Given the description of an element on the screen output the (x, y) to click on. 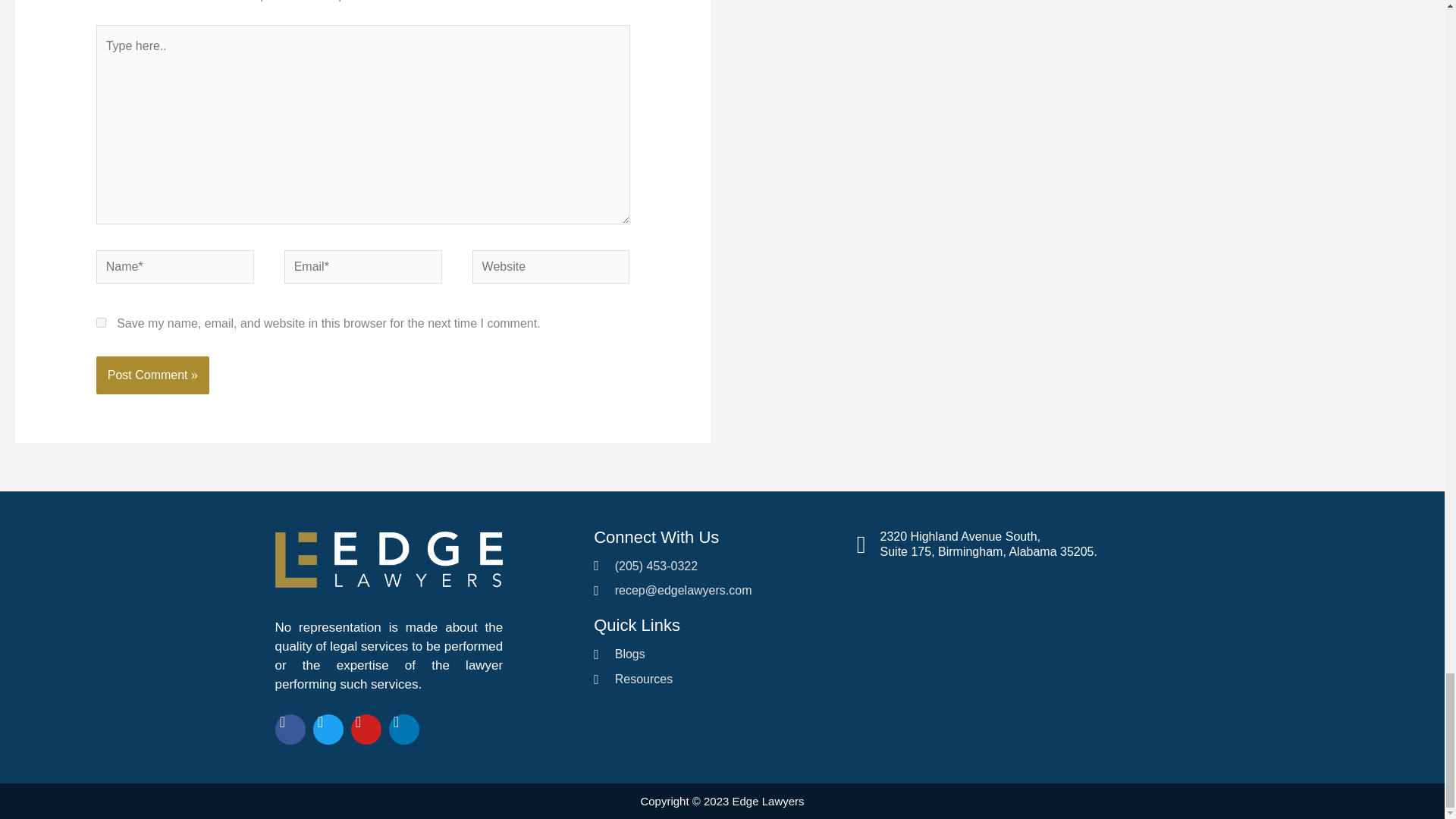
yes (101, 322)
